Given the description of an element on the screen output the (x, y) to click on. 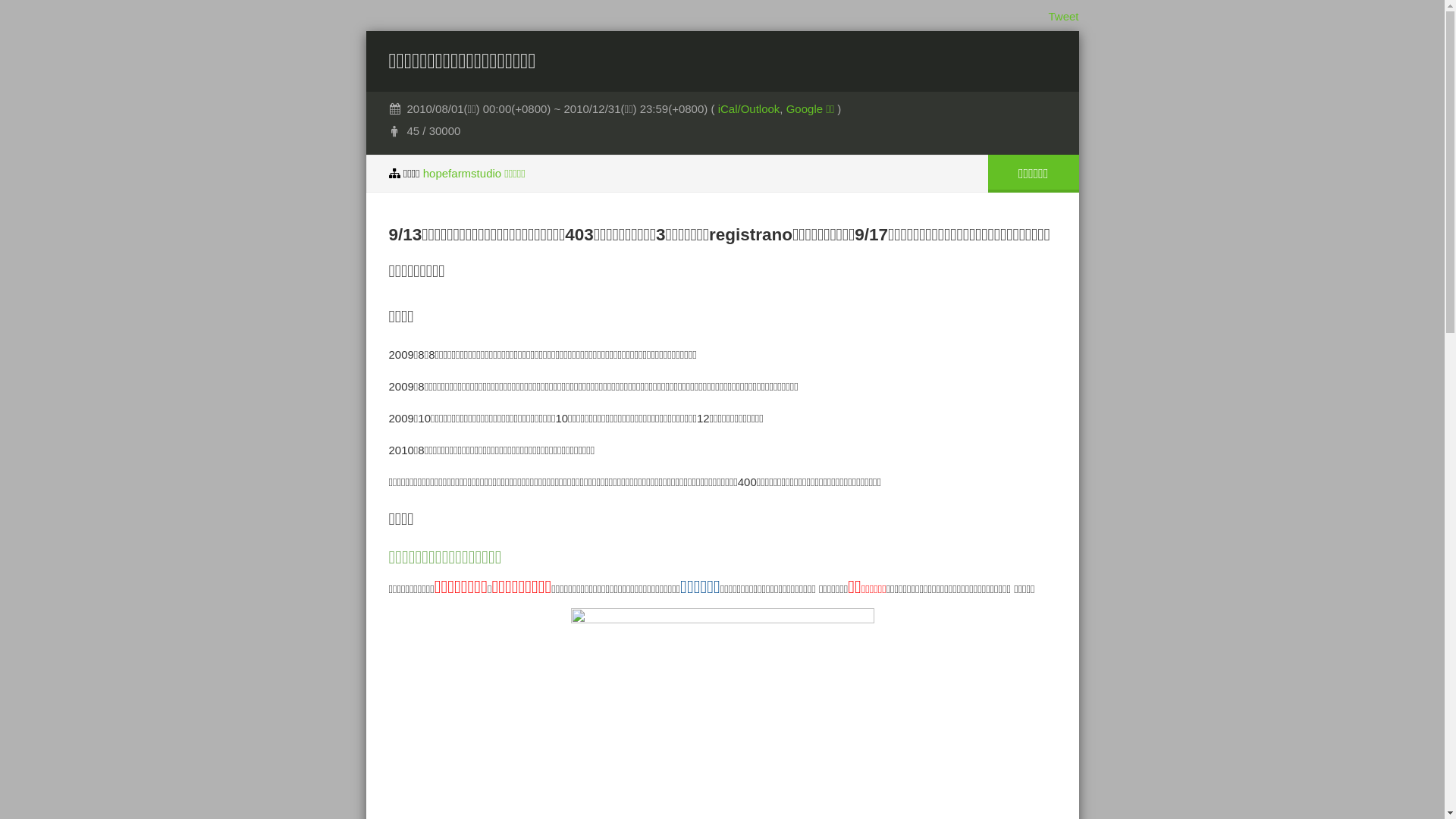
iCal/Outlook Element type: text (749, 108)
Tweet Element type: text (1063, 15)
